Given the description of an element on the screen output the (x, y) to click on. 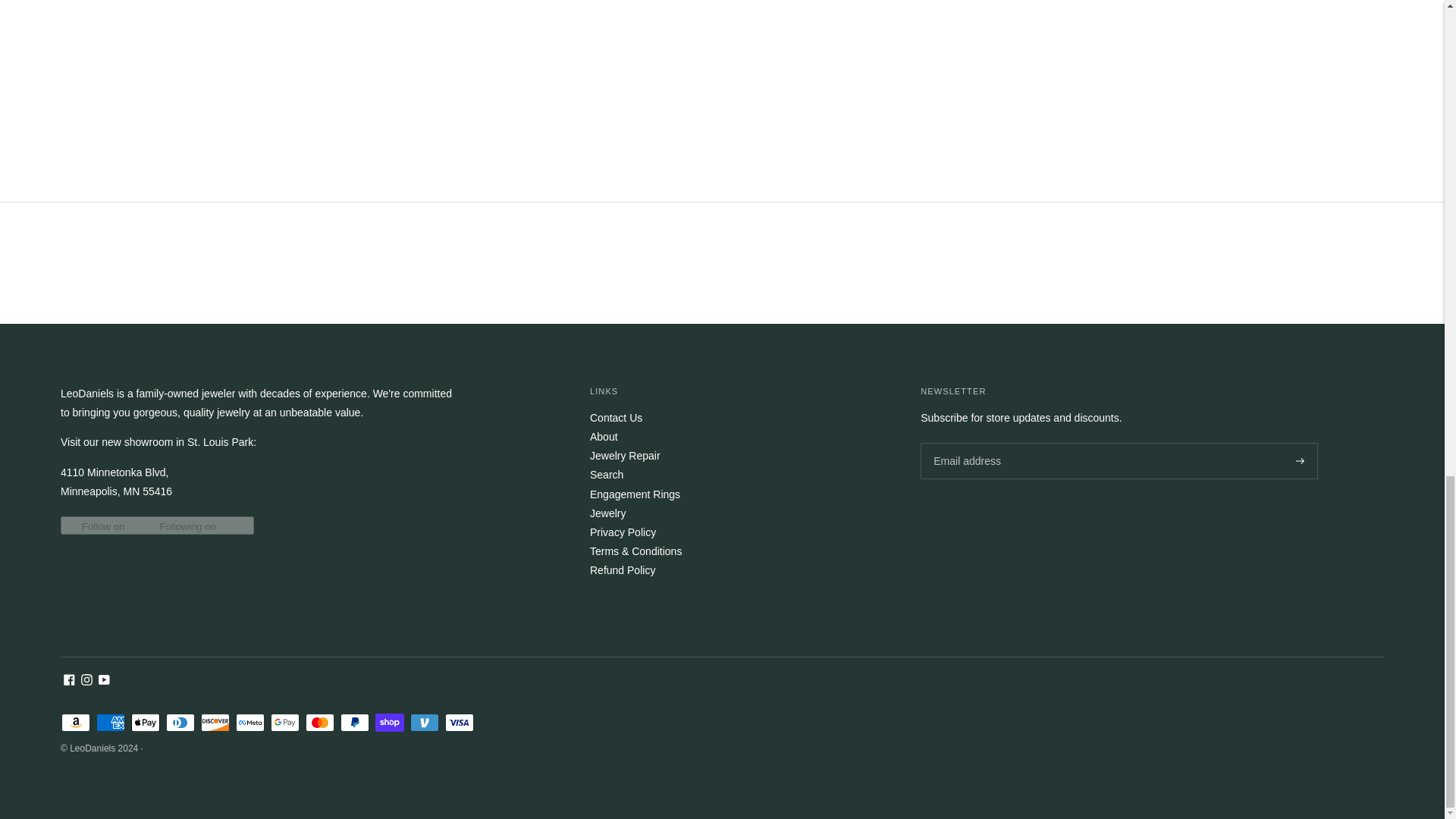
LeoDaniels on YouTube (104, 681)
LeoDaniels on Facebook (69, 681)
LeoDaniels on Instagram (87, 681)
